Given the description of an element on the screen output the (x, y) to click on. 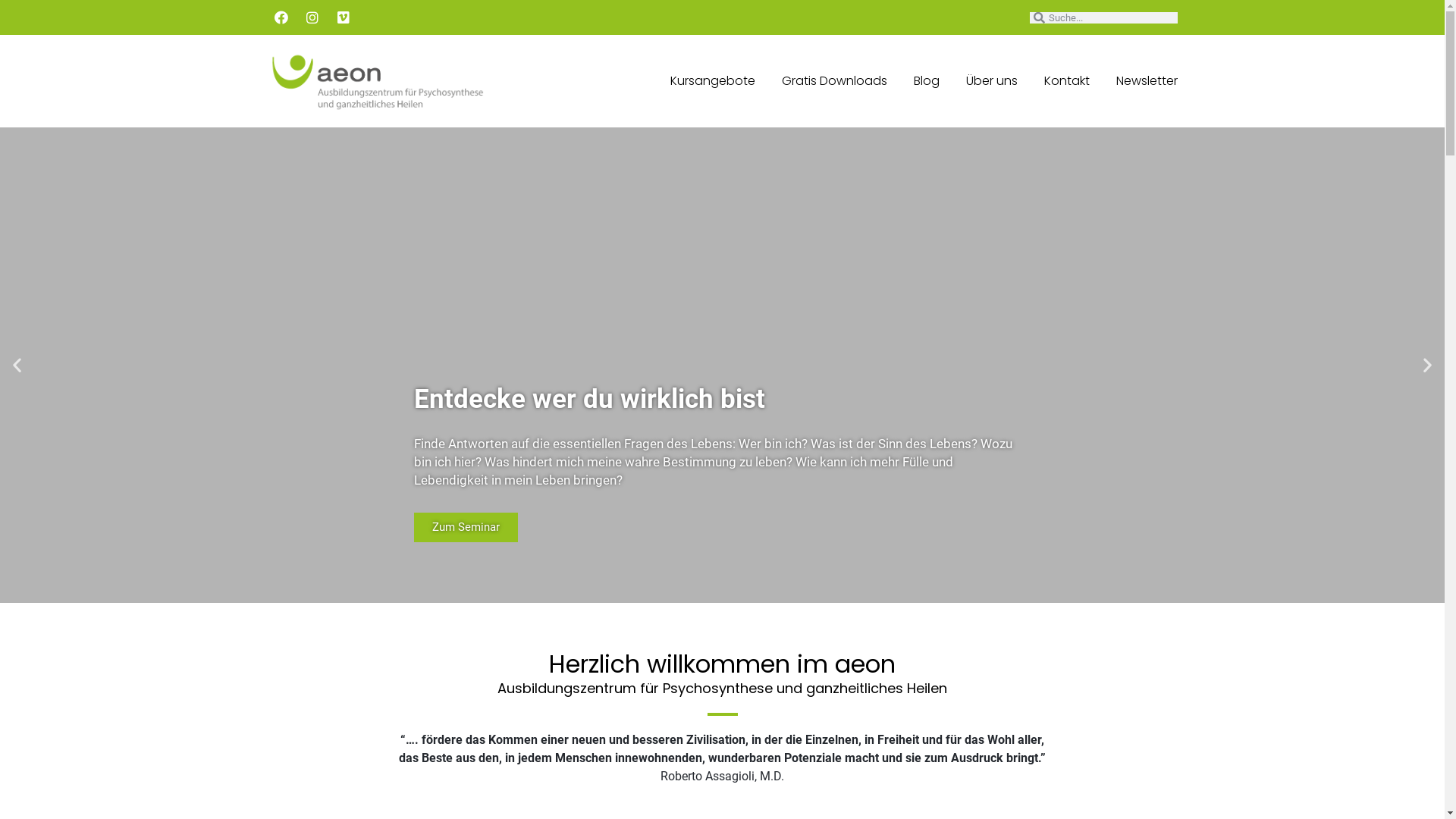
Newsletter Element type: text (1146, 81)
Kontakt Element type: text (1065, 81)
Gratis Downloads Element type: text (833, 81)
Kursangebote Element type: text (712, 81)
Blog Element type: text (925, 81)
